Given the description of an element on the screen output the (x, y) to click on. 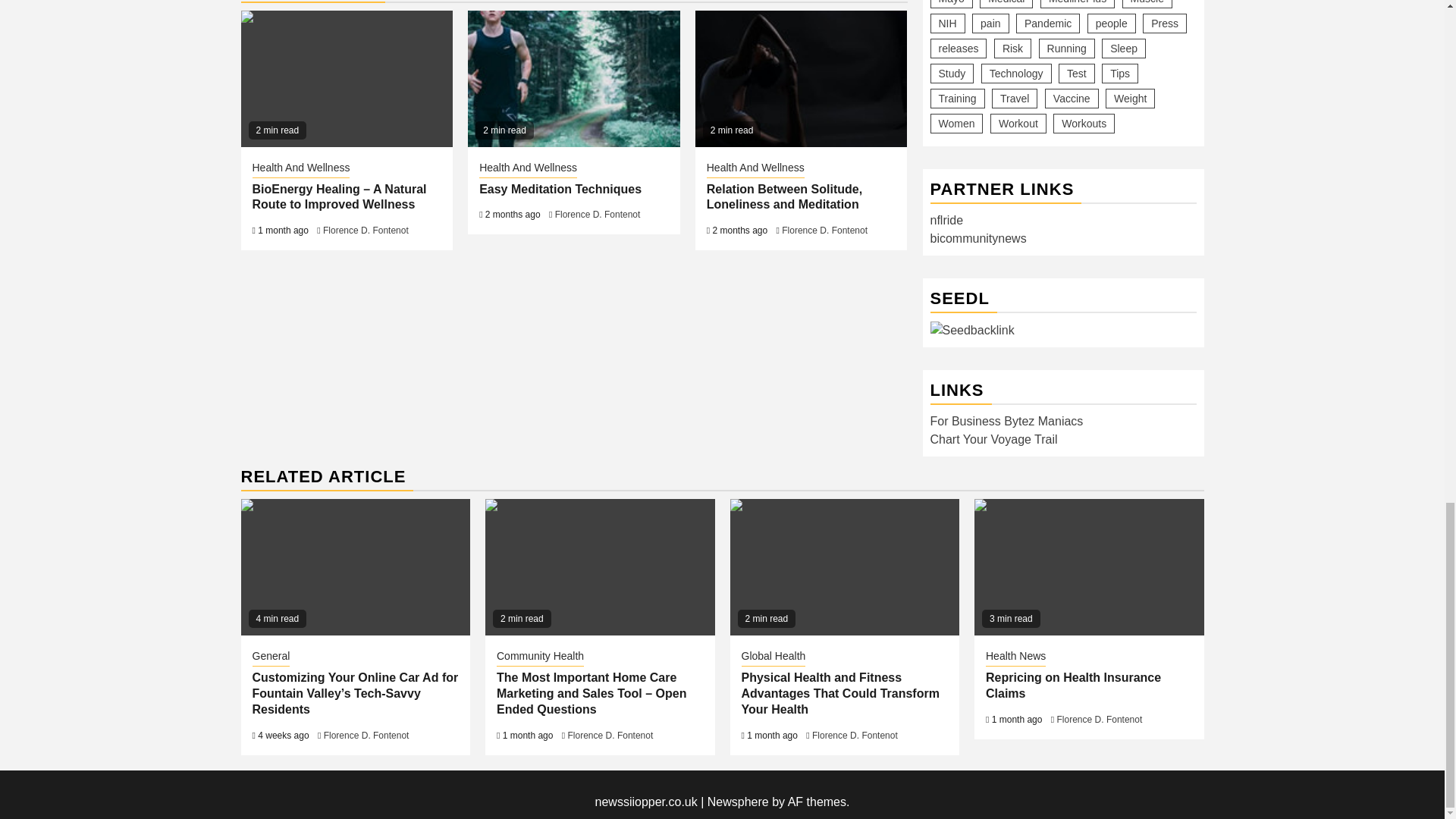
Relation Between Solitude, Loneliness and Meditation (801, 78)
Easy Meditation Techniques (560, 188)
Seedbacklink (971, 330)
Health And Wellness (300, 168)
Easy Meditation Techniques (573, 78)
Florence D. Fontenot (597, 214)
Health And Wellness (527, 168)
Health And Wellness (755, 168)
Florence D. Fontenot (366, 230)
